Given the description of an element on the screen output the (x, y) to click on. 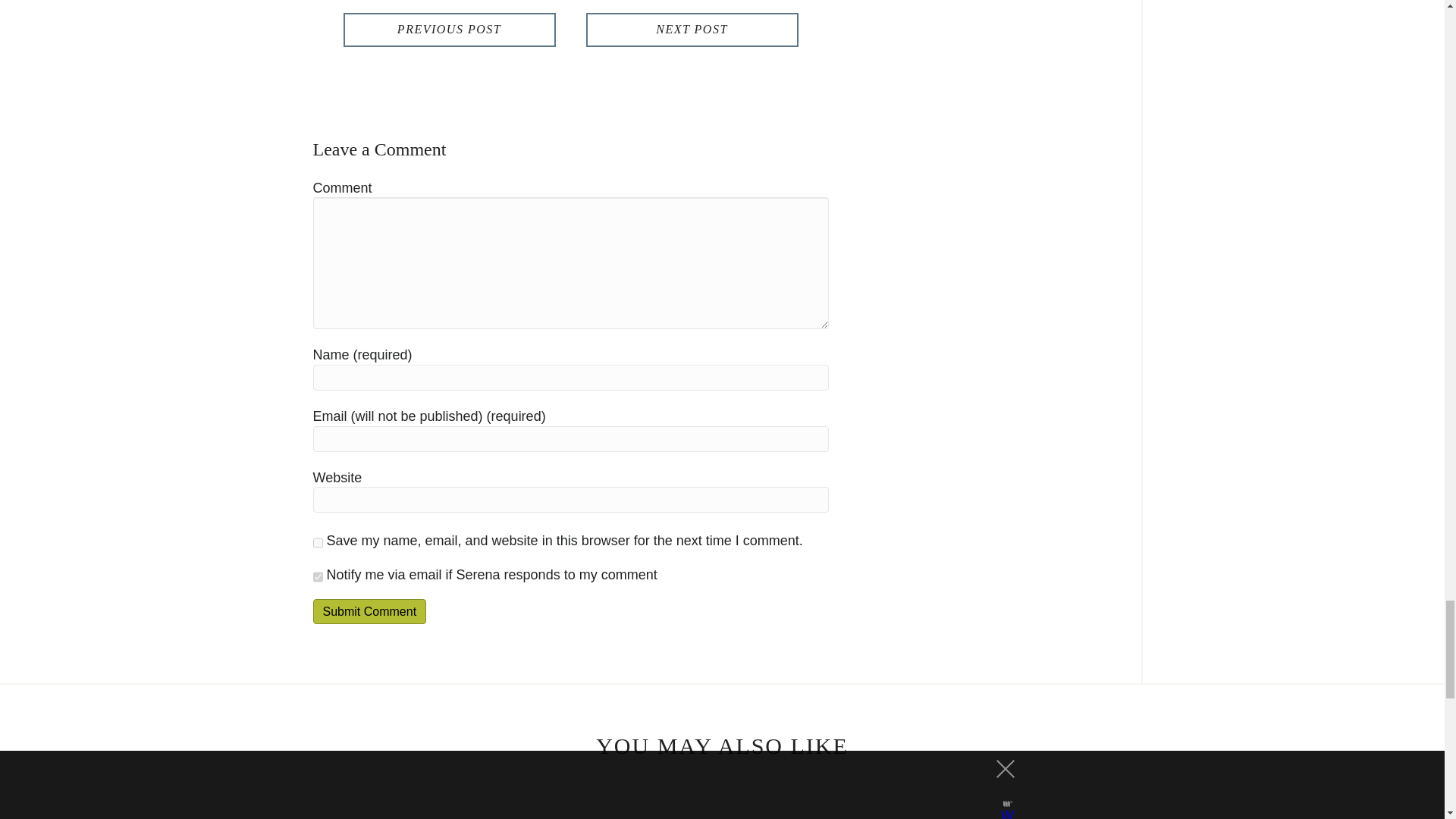
Submit Comment (369, 611)
